Given the description of an element on the screen output the (x, y) to click on. 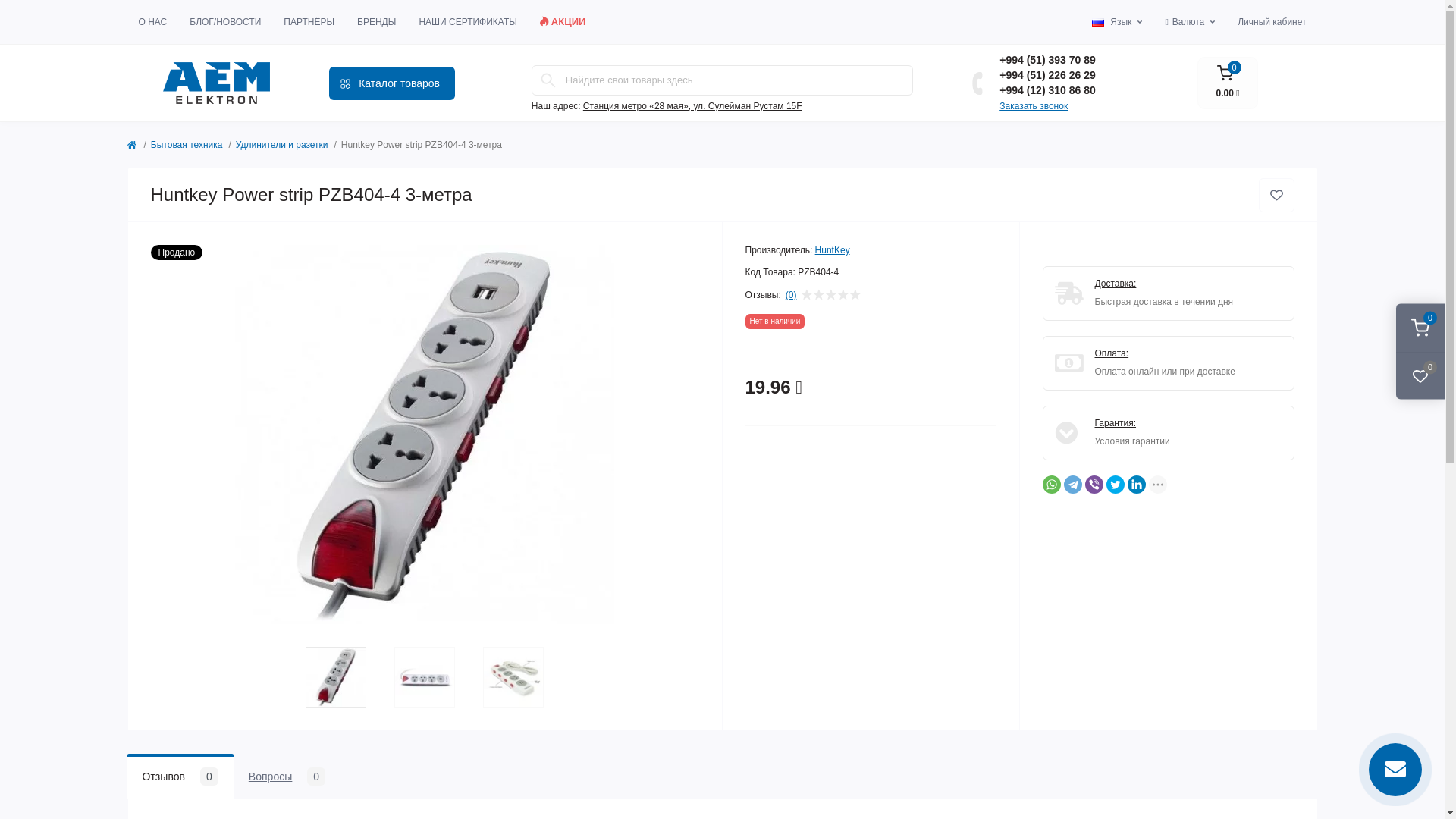
(0) Element type: text (791, 294)
WhatsApp Element type: hover (1050, 484)
Telegram Element type: hover (1072, 484)
Viber Element type: hover (1093, 484)
Twitter Element type: hover (1114, 484)
HuntKey Element type: text (832, 249)
+994 (51) 393 70 89 Element type: text (1047, 59)
+994 (12) 310 86 80 Element type: text (1047, 89)
0 Element type: text (1420, 374)
0 Element type: text (1420, 327)
LinkedIn Element type: hover (1135, 484)
+994 (51) 226 26 29 Element type: text (1047, 74)
